Given the description of an element on the screen output the (x, y) to click on. 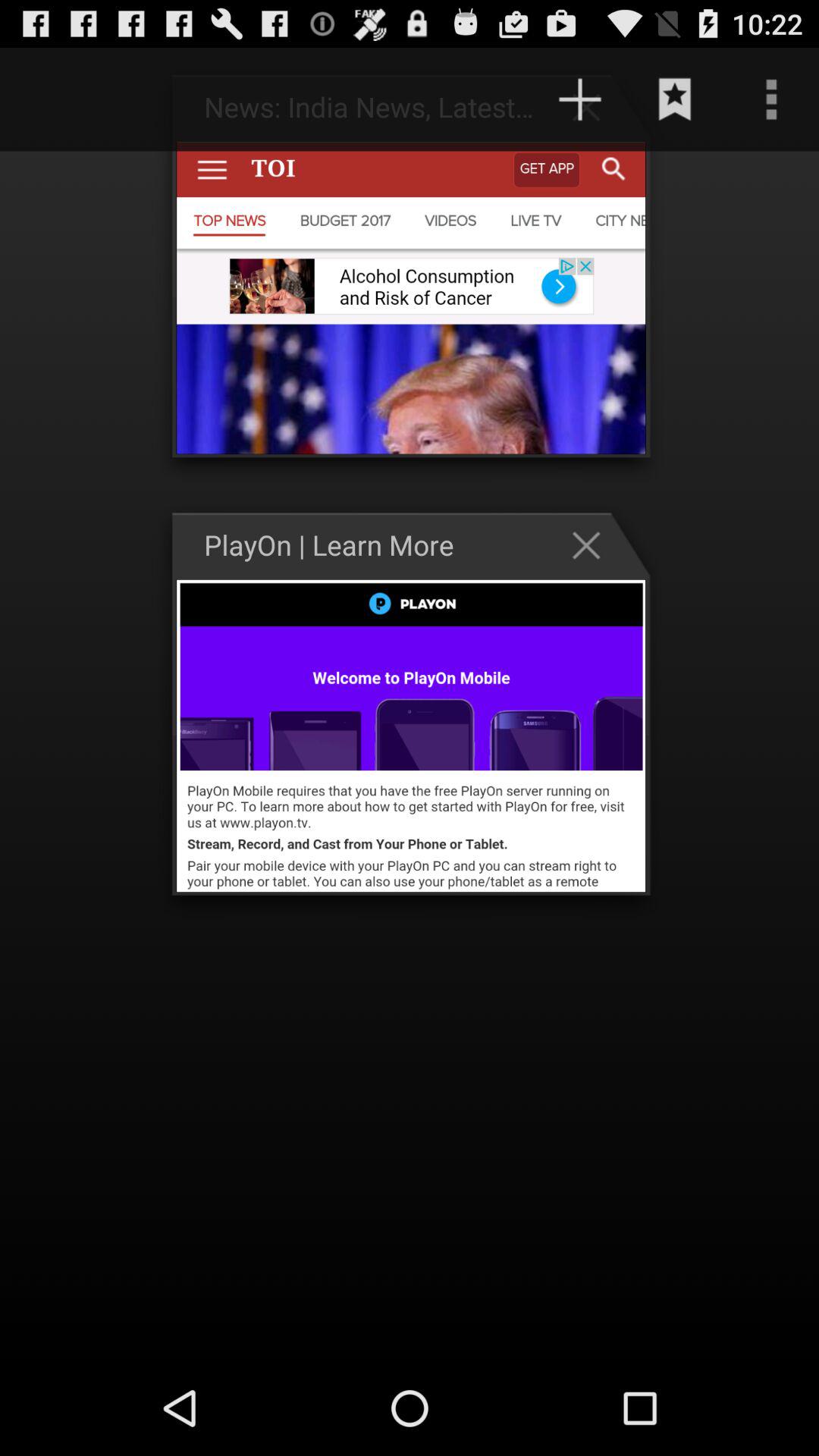
launch the http www playon item (453, 99)
